Given the description of an element on the screen output the (x, y) to click on. 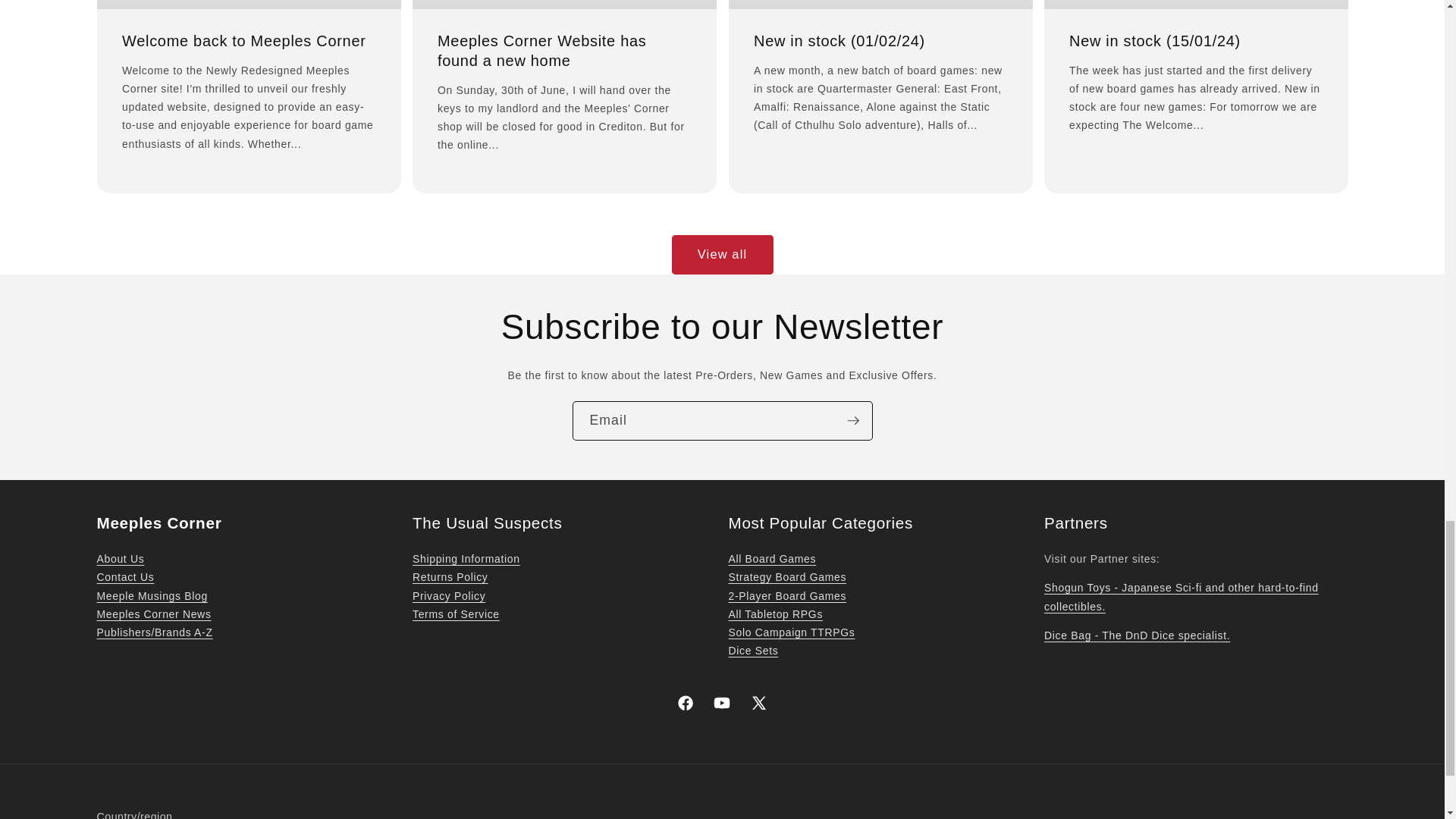
Dice Bag (1136, 635)
Strategy Board Games (786, 576)
Meeple Musings (152, 595)
Shipping Policy (465, 558)
Shop News (154, 613)
A-Z of Game Publishers and Gaming Brands (154, 632)
Privacy Policy (448, 595)
Solo Campaign TTRPGs (791, 632)
Contact (125, 576)
Shogun Toys (1181, 596)
